Given the description of an element on the screen output the (x, y) to click on. 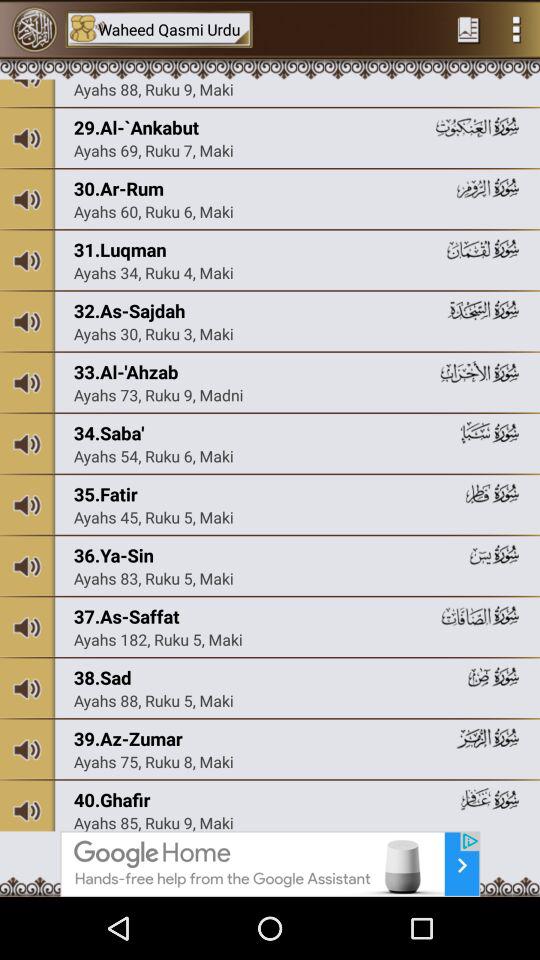
advertisement page (270, 864)
